Given the description of an element on the screen output the (x, y) to click on. 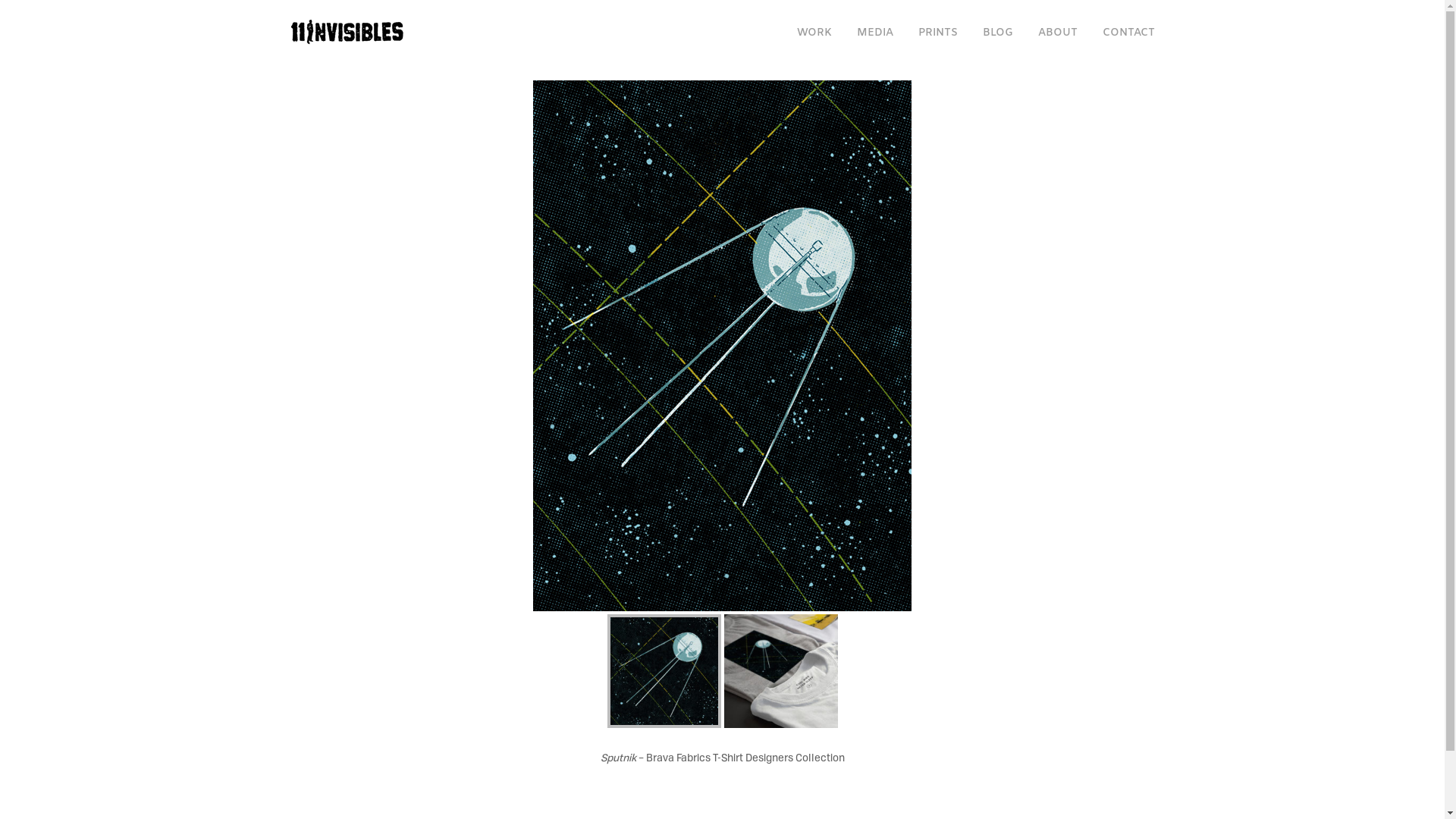
ABOUT Element type: text (1056, 32)
BLOG Element type: text (997, 32)
MEDIA Element type: text (874, 32)
PRINTS Element type: text (937, 32)
Home Element type: text (346, 29)
WORK Element type: text (813, 32)
CONTACT Element type: text (1128, 32)
